Given the description of an element on the screen output the (x, y) to click on. 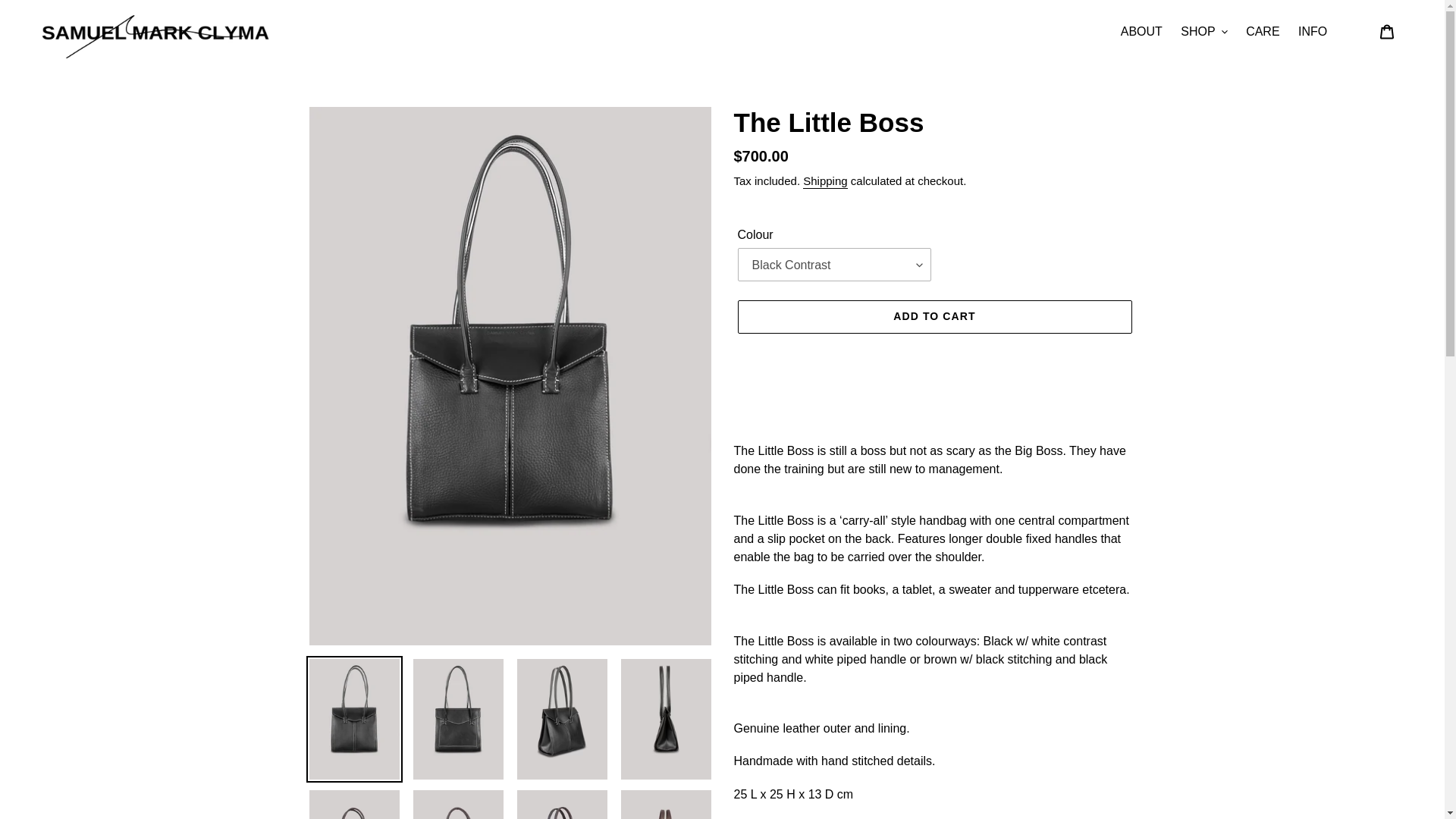
INFO (1312, 30)
Cart (1387, 31)
Shipping (825, 181)
ADD TO CART (933, 316)
ABOUT (1141, 30)
SHOP (1203, 30)
CARE (1263, 30)
